Given the description of an element on the screen output the (x, y) to click on. 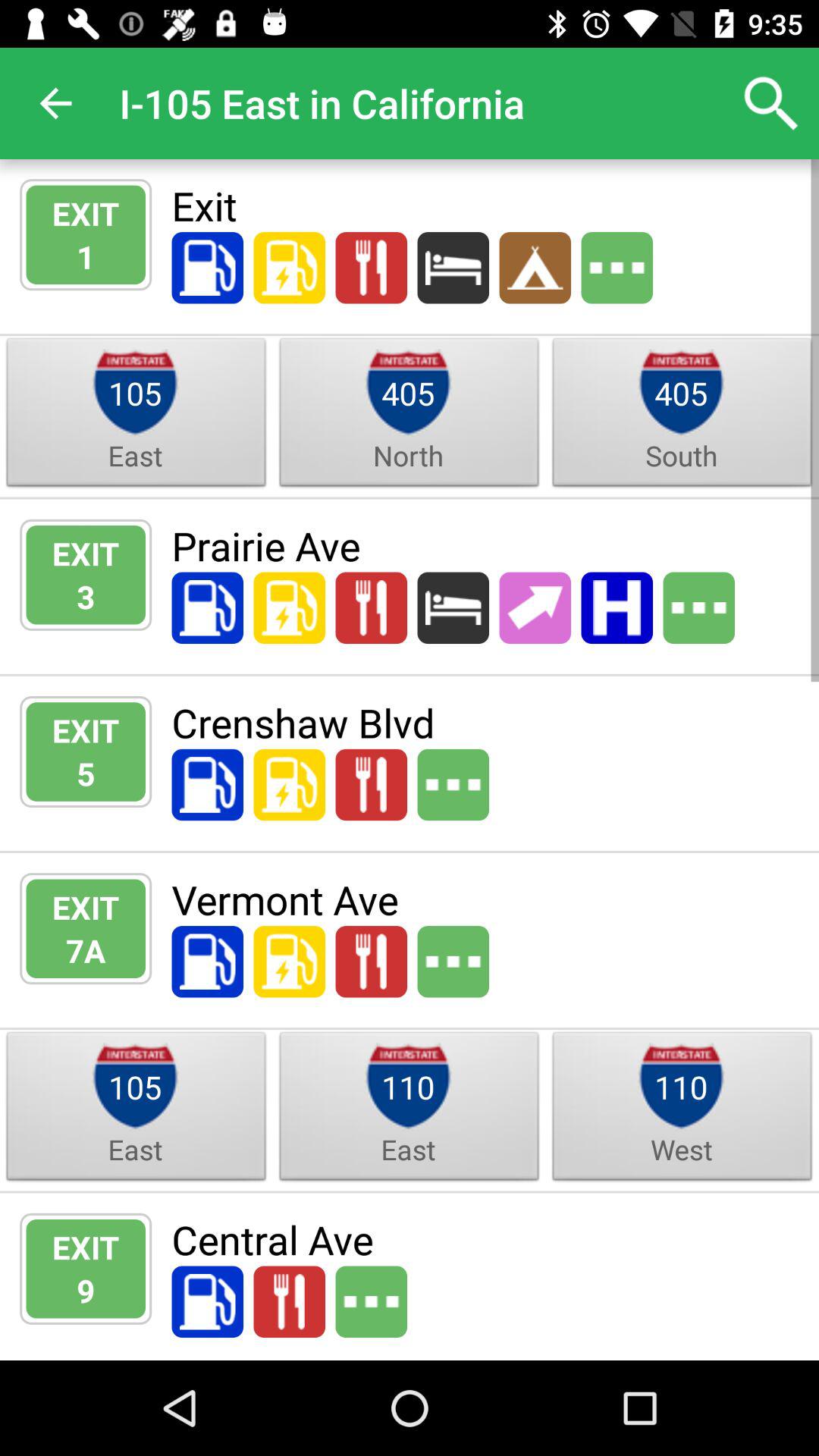
press the item below the exit item (85, 256)
